Given the description of an element on the screen output the (x, y) to click on. 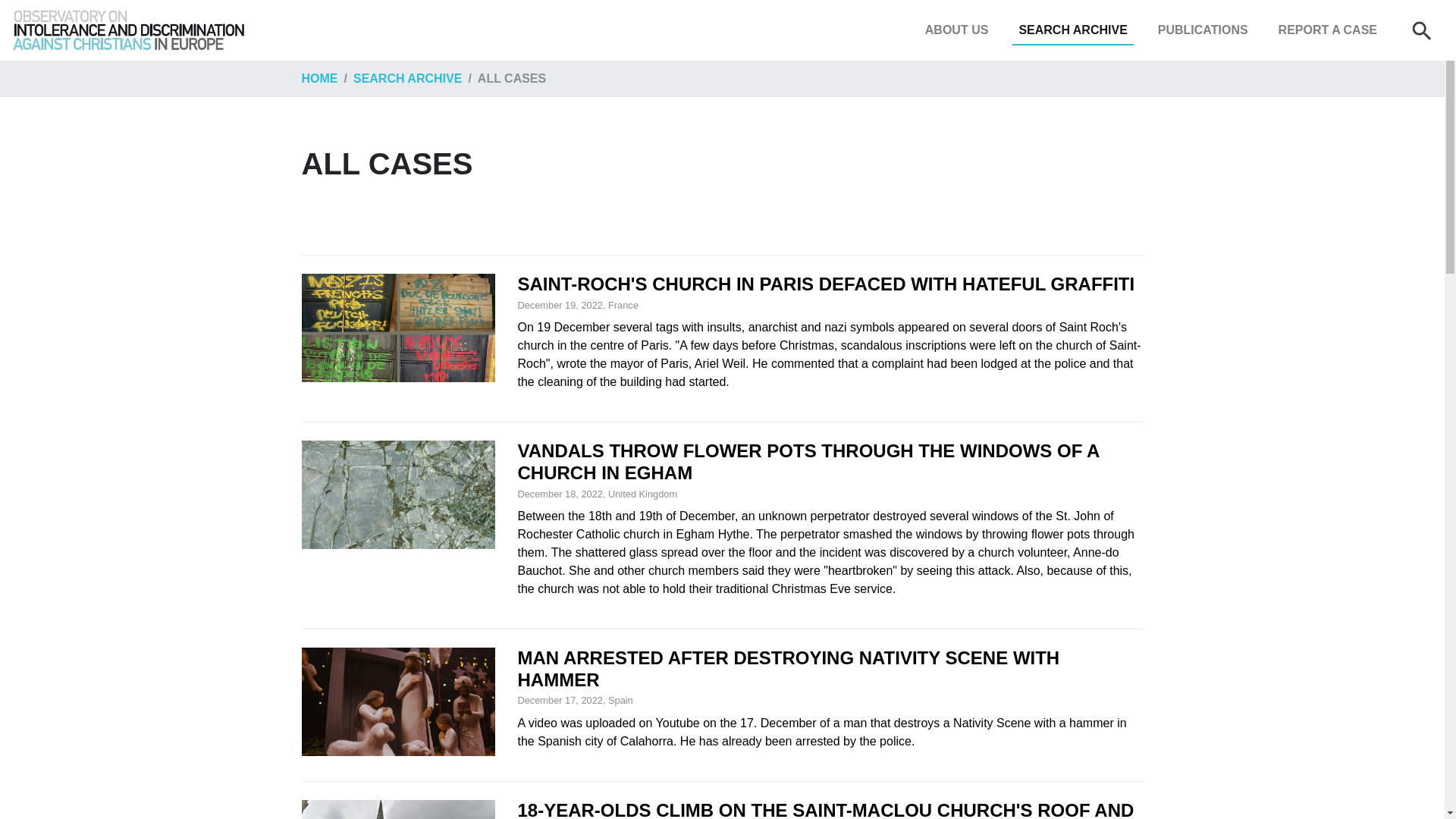
PUBLICATIONS (1202, 30)
Report a case (1327, 30)
Search archive (1071, 30)
REPORT A CASE (1327, 30)
ABOUT US (956, 30)
About us (956, 30)
Publications (1202, 30)
SEARCH ARCHIVE (1071, 30)
